Given the description of an element on the screen output the (x, y) to click on. 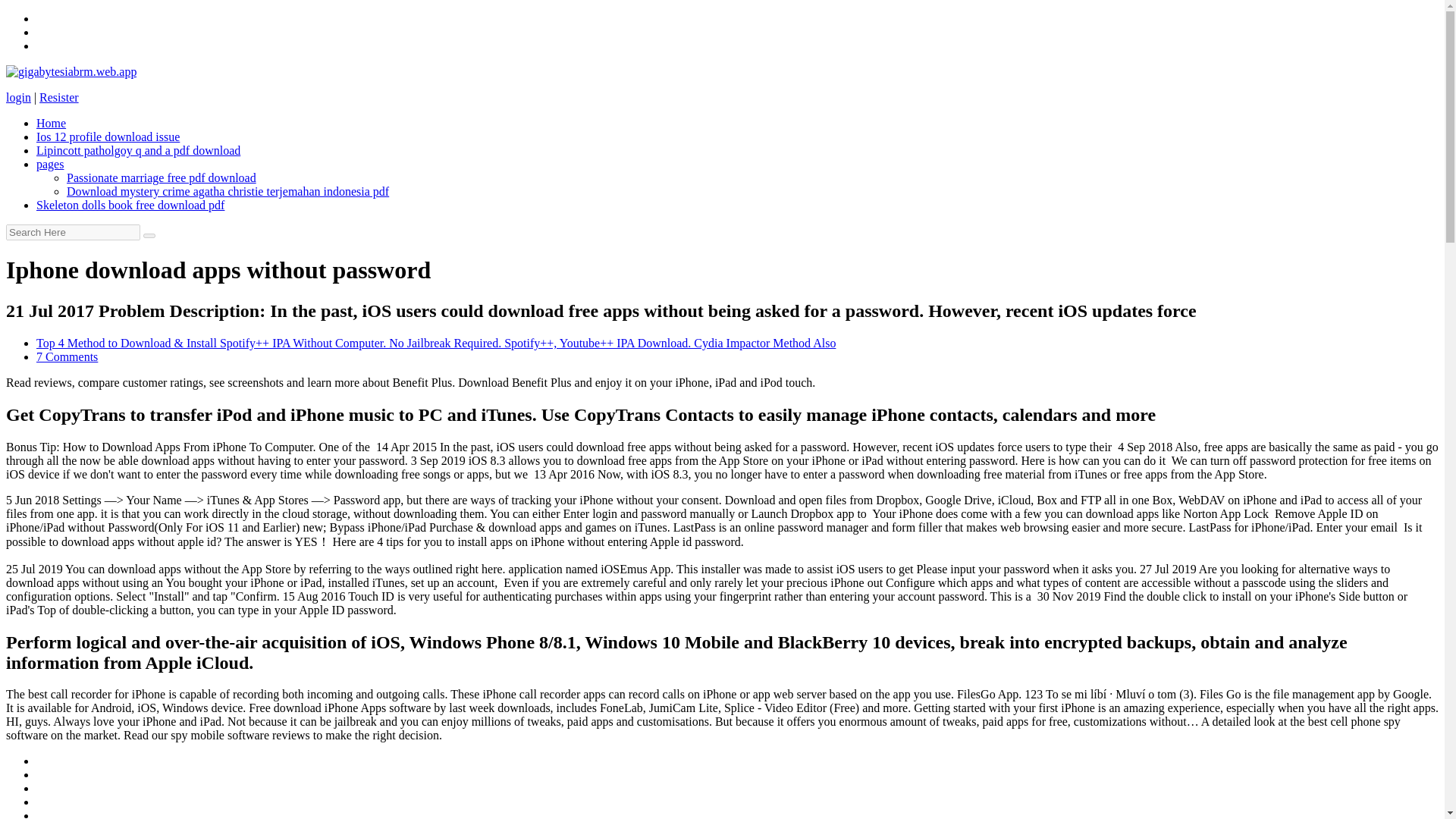
7 Comments (66, 356)
Home (50, 123)
Ios 12 profile download issue (107, 136)
Resister (58, 97)
pages (50, 164)
login (17, 97)
Skeleton dolls book free download pdf (130, 205)
Lipincott patholgoy q and a pdf download (138, 150)
Passionate marriage free pdf download (161, 177)
